Given the description of an element on the screen output the (x, y) to click on. 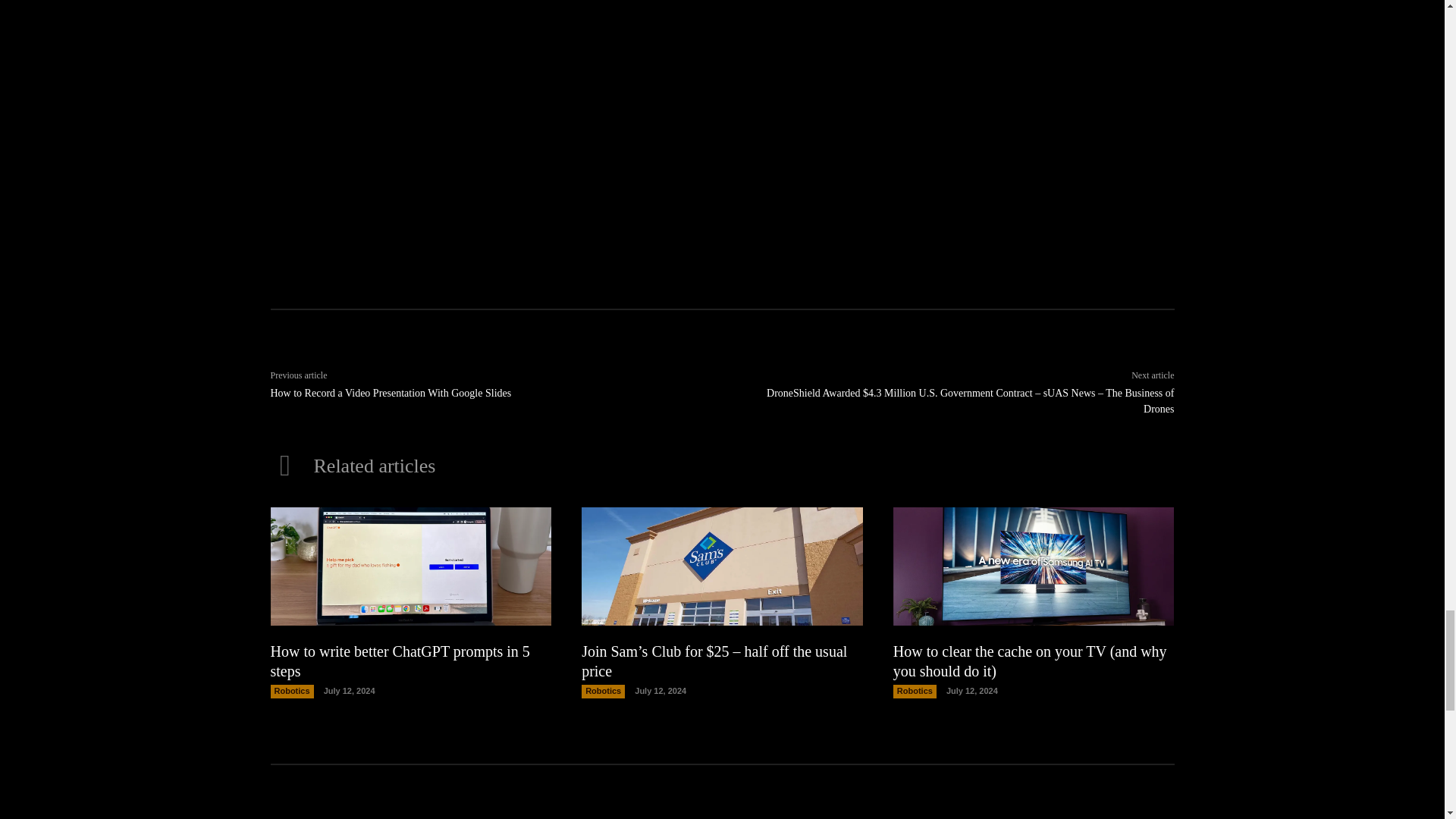
admin (459, 124)
